Given the description of an element on the screen output the (x, y) to click on. 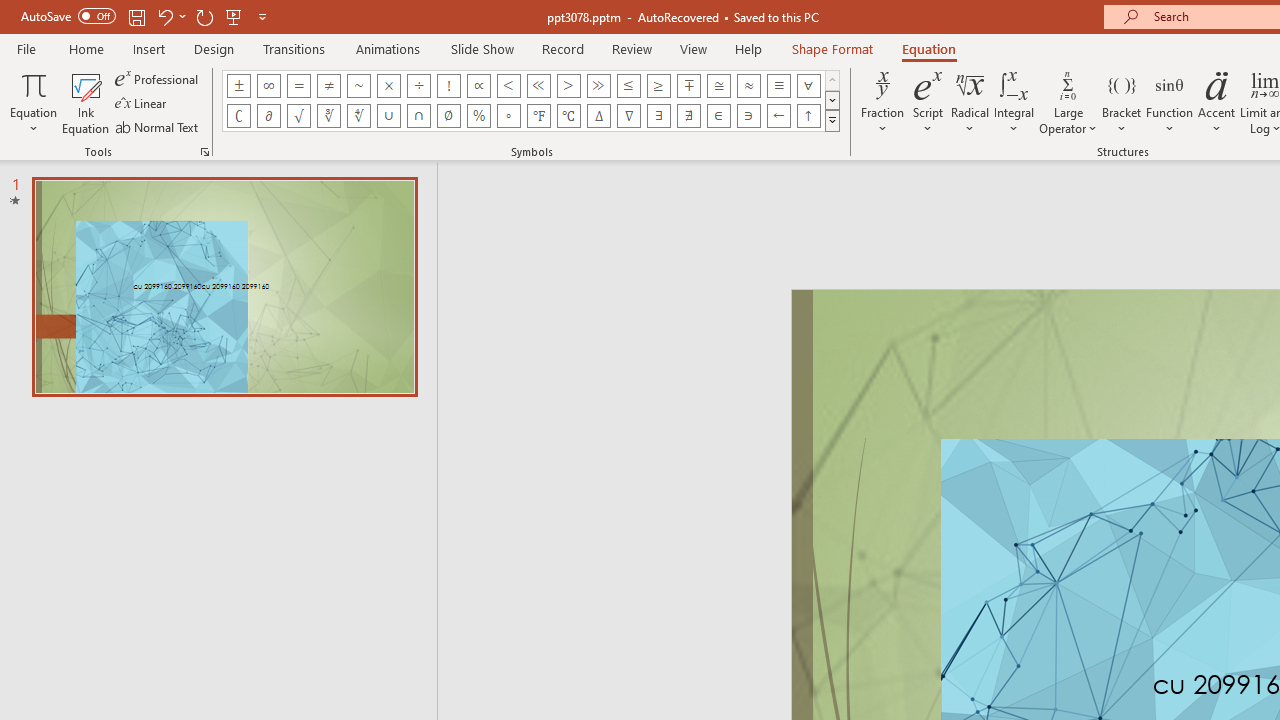
Equation Symbol Not Equal To (328, 85)
Equation Symbol Approximately Equal To (718, 85)
Large Operator (1067, 102)
Ink Equation (86, 102)
Equation Symbol Almost Equal To (Asymptotic To) (748, 85)
Equation Symbols (832, 120)
Equation Symbol Degrees Fahrenheit (538, 115)
Equation Symbol Cube Root (328, 115)
Equation Symbol Division Sign (418, 85)
AutomationID: EquationSymbolsInsertGallery (532, 100)
Equation Symbol Empty Set (448, 115)
